Given the description of an element on the screen output the (x, y) to click on. 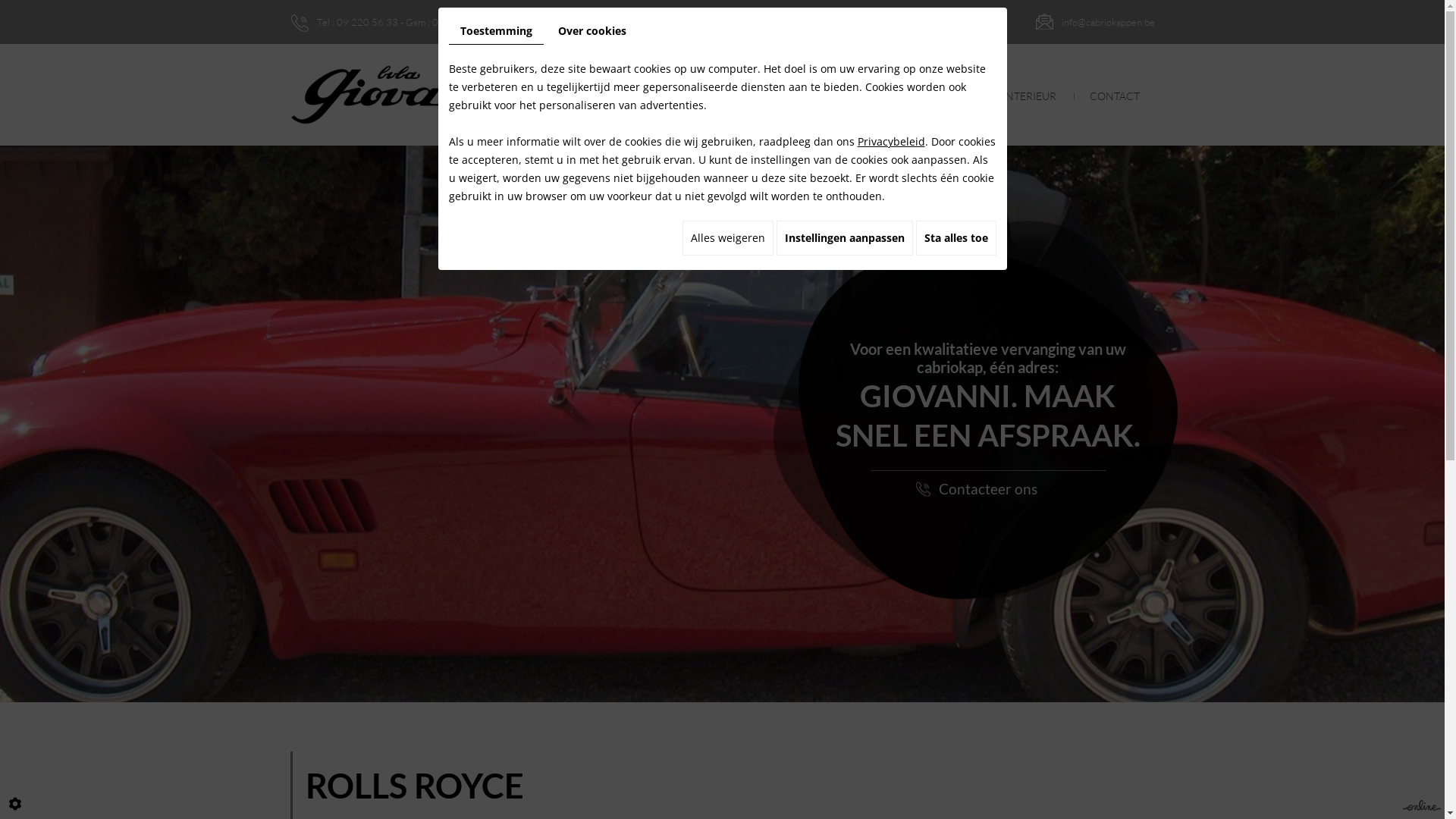
Alles weigeren Element type: text (727, 237)
Cookie-instelling bewerken Element type: text (14, 803)
INTERIEUR Element type: text (1029, 95)
Giovanni bvba - Cabriodak Element type: hover (426, 93)
info@cabriokappen.be Element type: text (1107, 21)
CABRIOKAPPEN OP MAAT Element type: text (905, 95)
Instellingen aanpassen Element type: text (844, 237)
Toestemming Element type: text (495, 31)
HOME Element type: text (678, 95)
Sta alles toe Element type: text (956, 237)
CABRIOKAPPEN Element type: text (767, 95)
Privacybeleid Element type: text (890, 141)
CONTACT Element type: text (1113, 95)
Over cookies Element type: text (591, 30)
Contacteer ons Element type: text (987, 488)
